Given the description of an element on the screen output the (x, y) to click on. 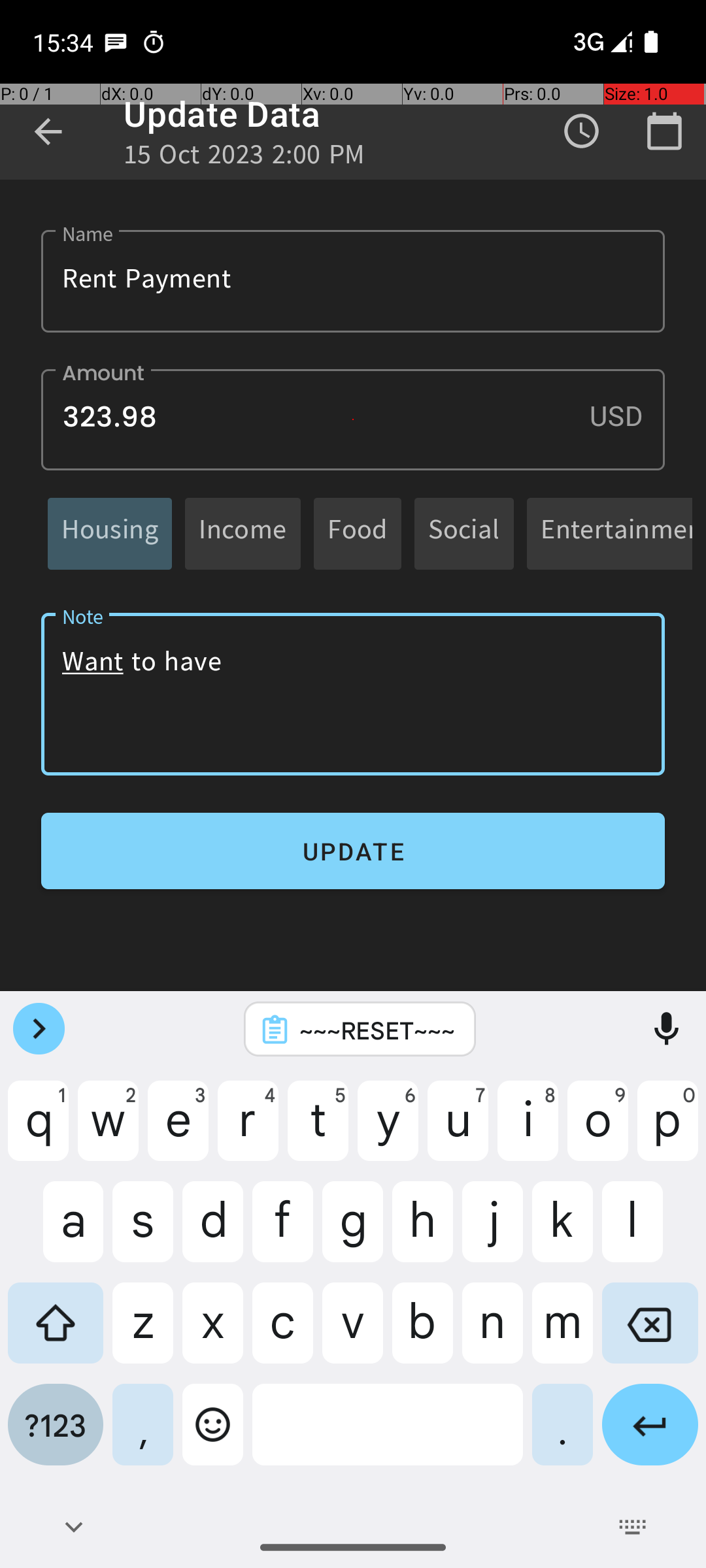
15 Oct 2023 2:00 PM Element type: android.widget.TextView (244, 157)
Rent Payment Element type: android.widget.EditText (352, 280)
323.98 Element type: android.widget.EditText (352, 419)
SMS Messenger notification: Sophie Gonzalez Element type: android.widget.ImageView (115, 41)
